Given the description of an element on the screen output the (x, y) to click on. 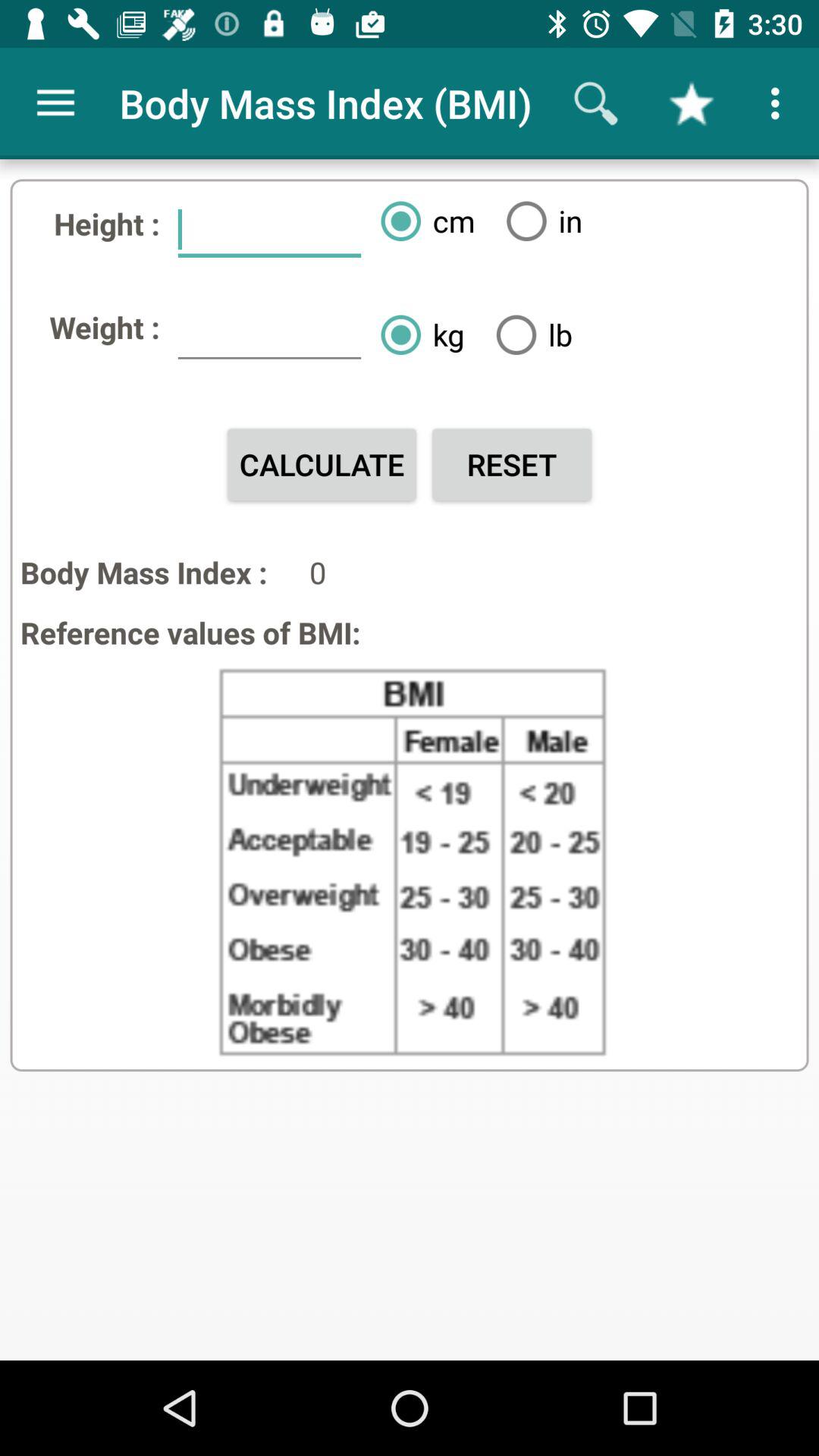
turn off item next to the cm icon (538, 221)
